Given the description of an element on the screen output the (x, y) to click on. 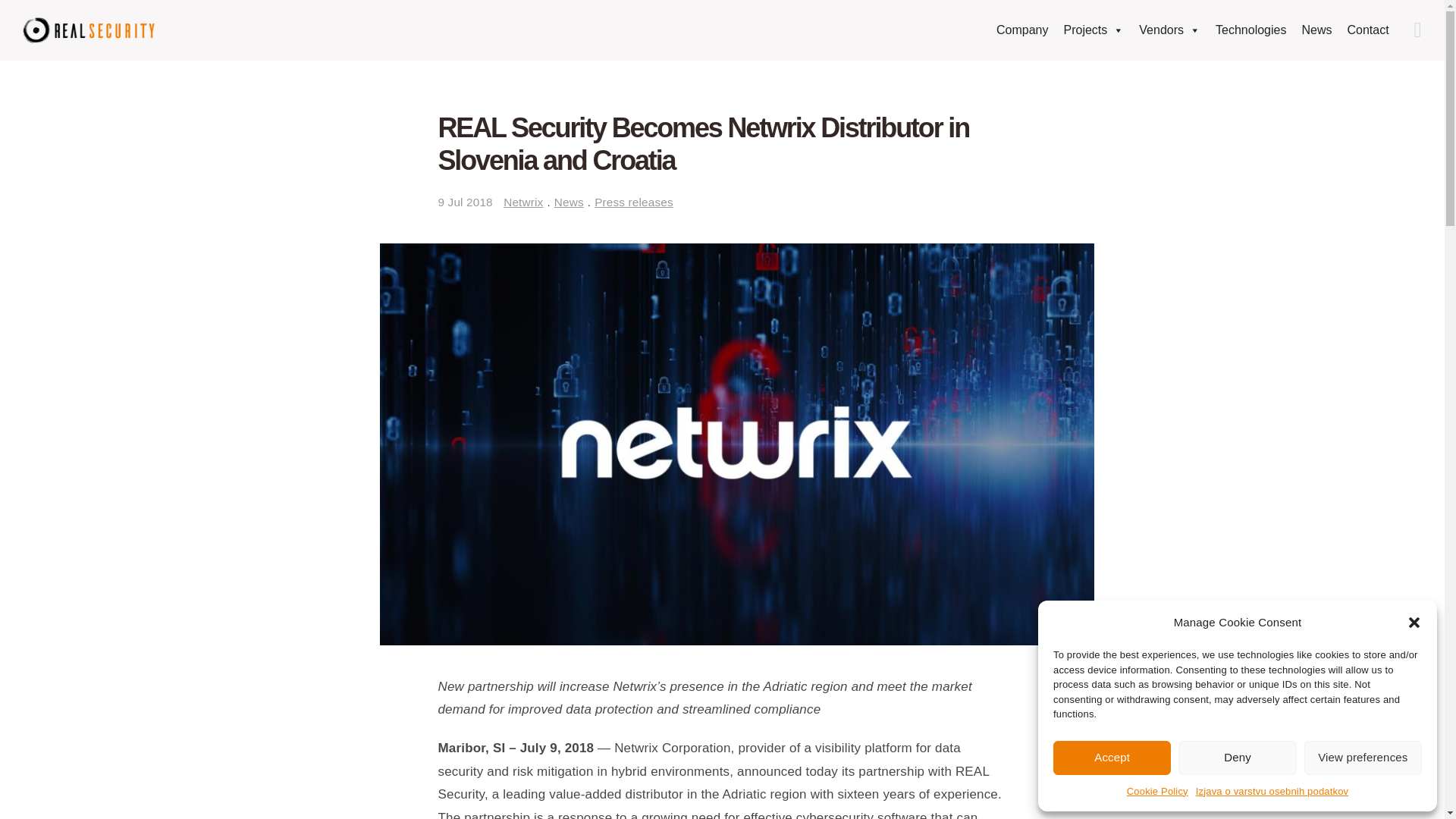
Accept (1111, 757)
Izjava o varstvu osebnih podatkov (1271, 791)
Cookie Policy (1157, 791)
Vendors (1169, 30)
View preferences (1363, 757)
Projects (1094, 30)
Deny (1236, 757)
Company (1181, 30)
